Given the description of an element on the screen output the (x, y) to click on. 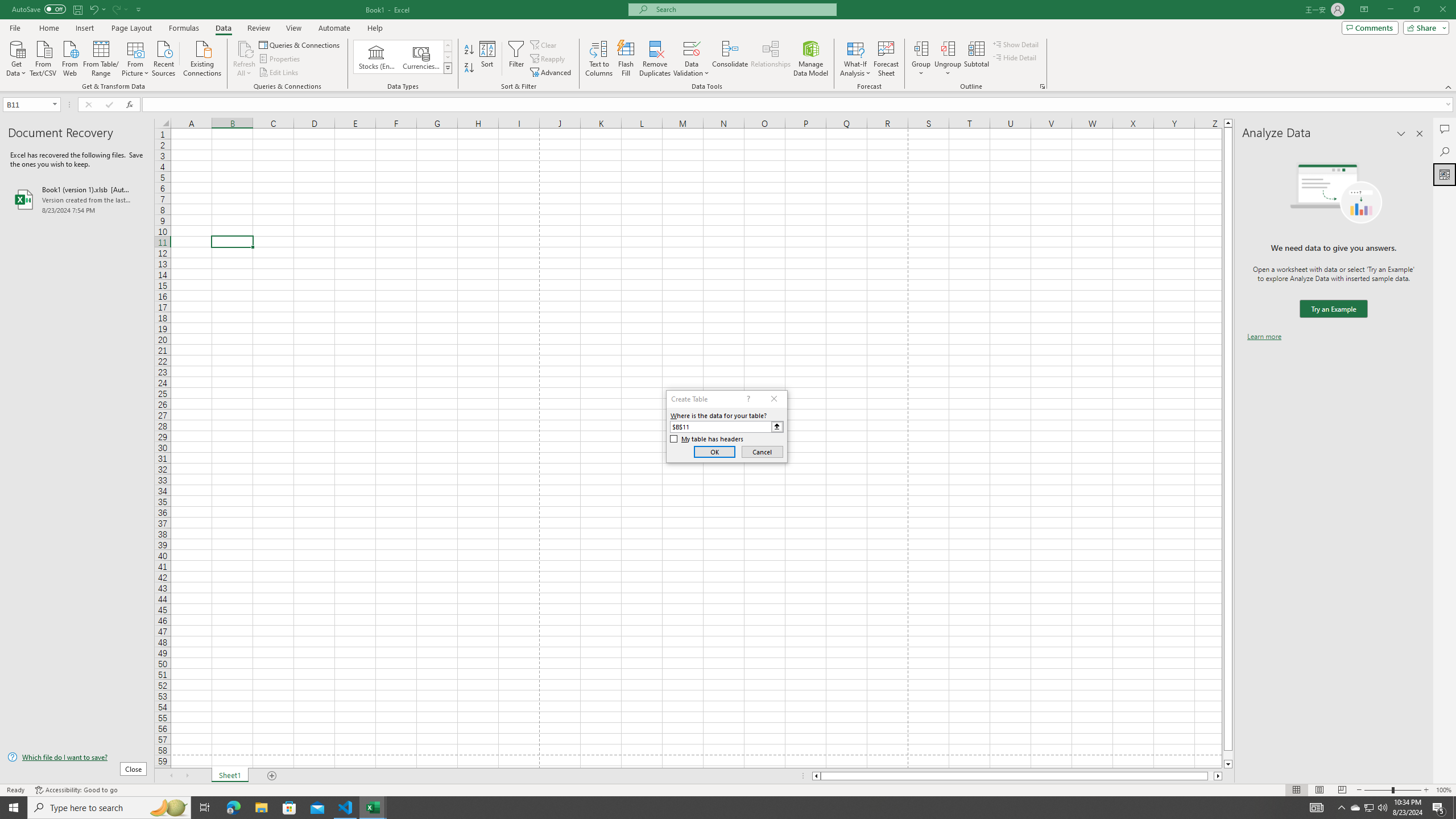
Search (1444, 151)
Show Detail (1016, 44)
Customize Quick Access Toolbar (139, 9)
Existing Connections (202, 57)
Consolidate... (729, 58)
Formulas (184, 28)
View (293, 28)
Page right (1211, 775)
Ribbon Display Options (1364, 9)
AutomationID: ConvertToLinkedEntity (403, 56)
Data Validation... (691, 48)
Queries & Connections (300, 44)
Properties (280, 58)
Data Types (448, 67)
